Given the description of an element on the screen output the (x, y) to click on. 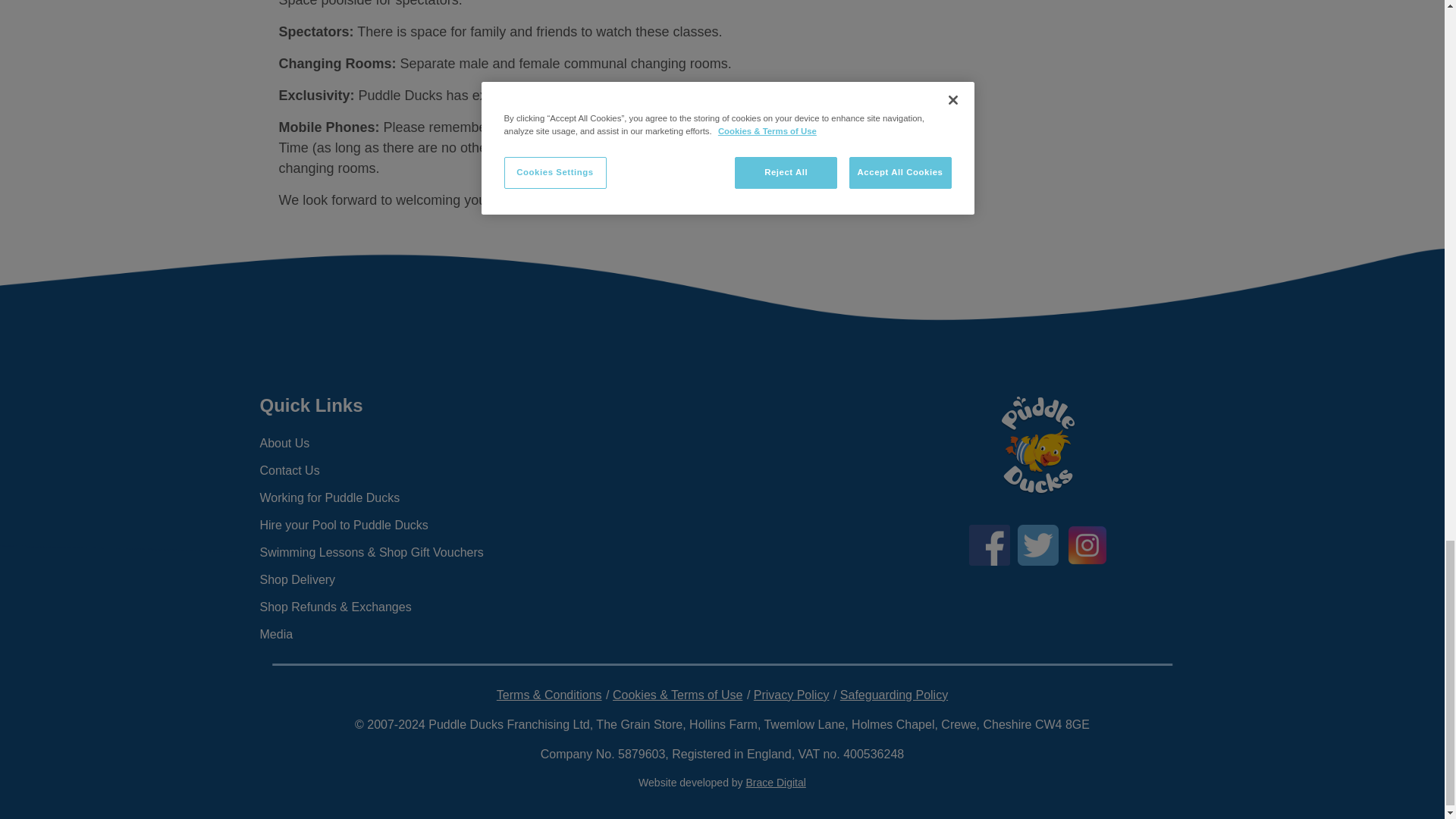
Media (406, 634)
Hire your Pool to Puddle Ducks (406, 524)
About Us (406, 443)
Working for Puddle Ducks (406, 497)
Shop Delivery (406, 579)
Contact Us (406, 470)
Quick Links (406, 405)
